Given the description of an element on the screen output the (x, y) to click on. 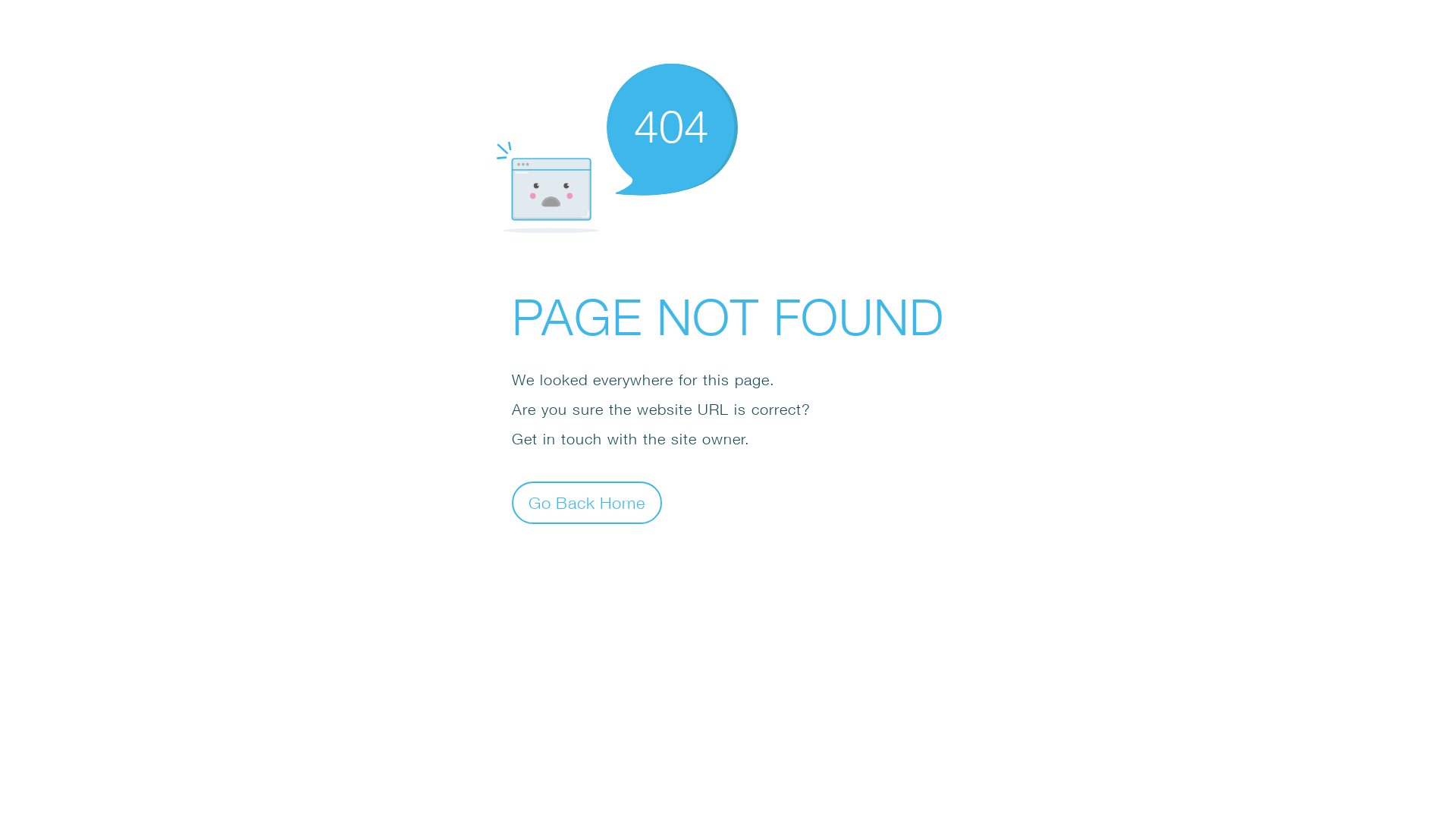
Go Back Home Element type: text (586, 502)
